Given the description of an element on the screen output the (x, y) to click on. 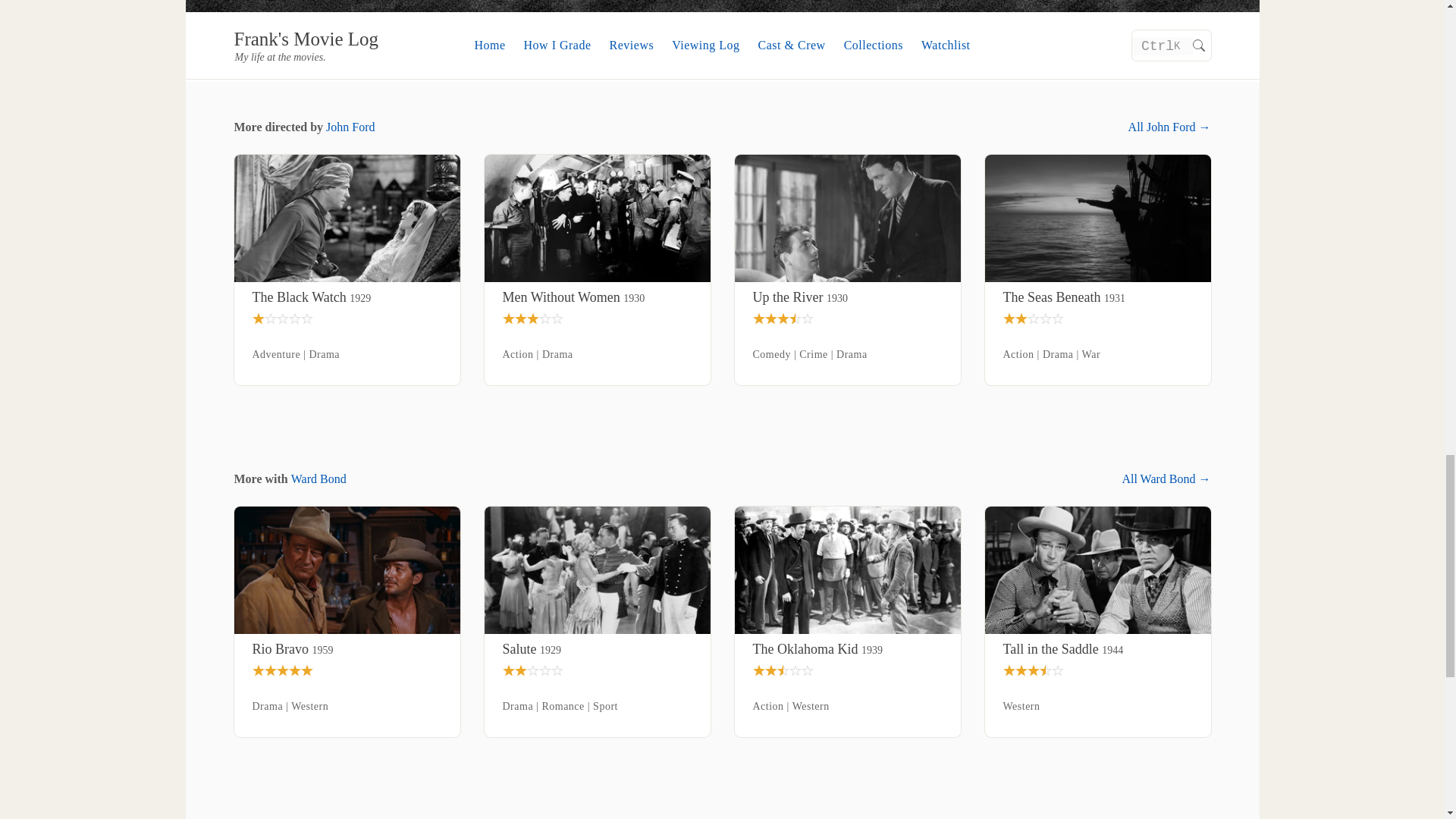
Rio Bravo 1959 (346, 648)
The Black Watch 1929 (346, 297)
Tall in the Saddle 1944 (1097, 648)
The Seas Beneath 1931 (1097, 297)
The Oklahoma Kid 1939 (847, 648)
John Ford (350, 126)
Up the River 1930 (847, 297)
Salute 1929 (596, 648)
Men Without Women 1930 (596, 297)
Ward Bond (318, 478)
